Given the description of an element on the screen output the (x, y) to click on. 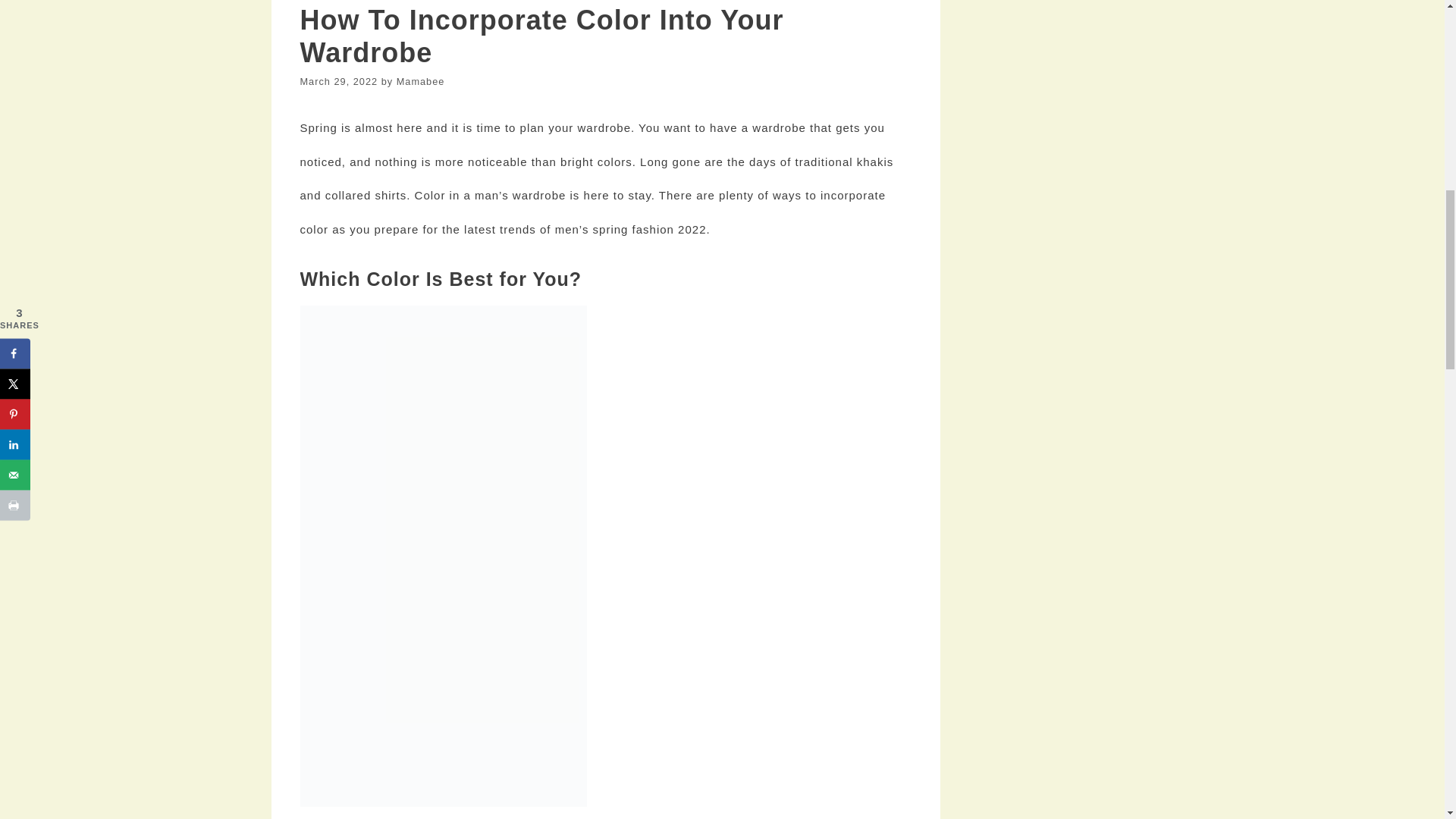
View all posts by Mamabee (420, 81)
